Given the description of an element on the screen output the (x, y) to click on. 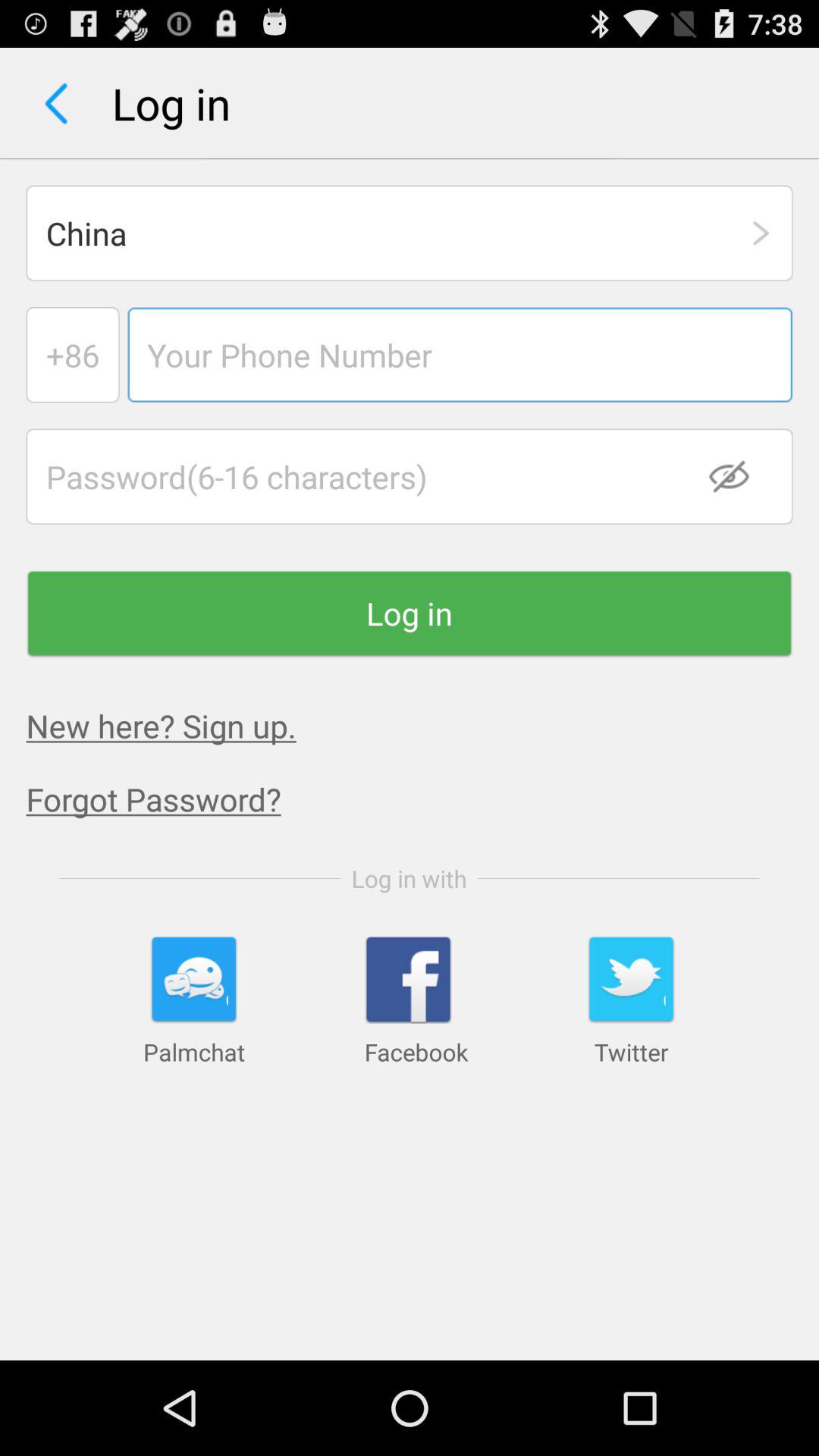
turn on the china (409, 232)
